Given the description of an element on the screen output the (x, y) to click on. 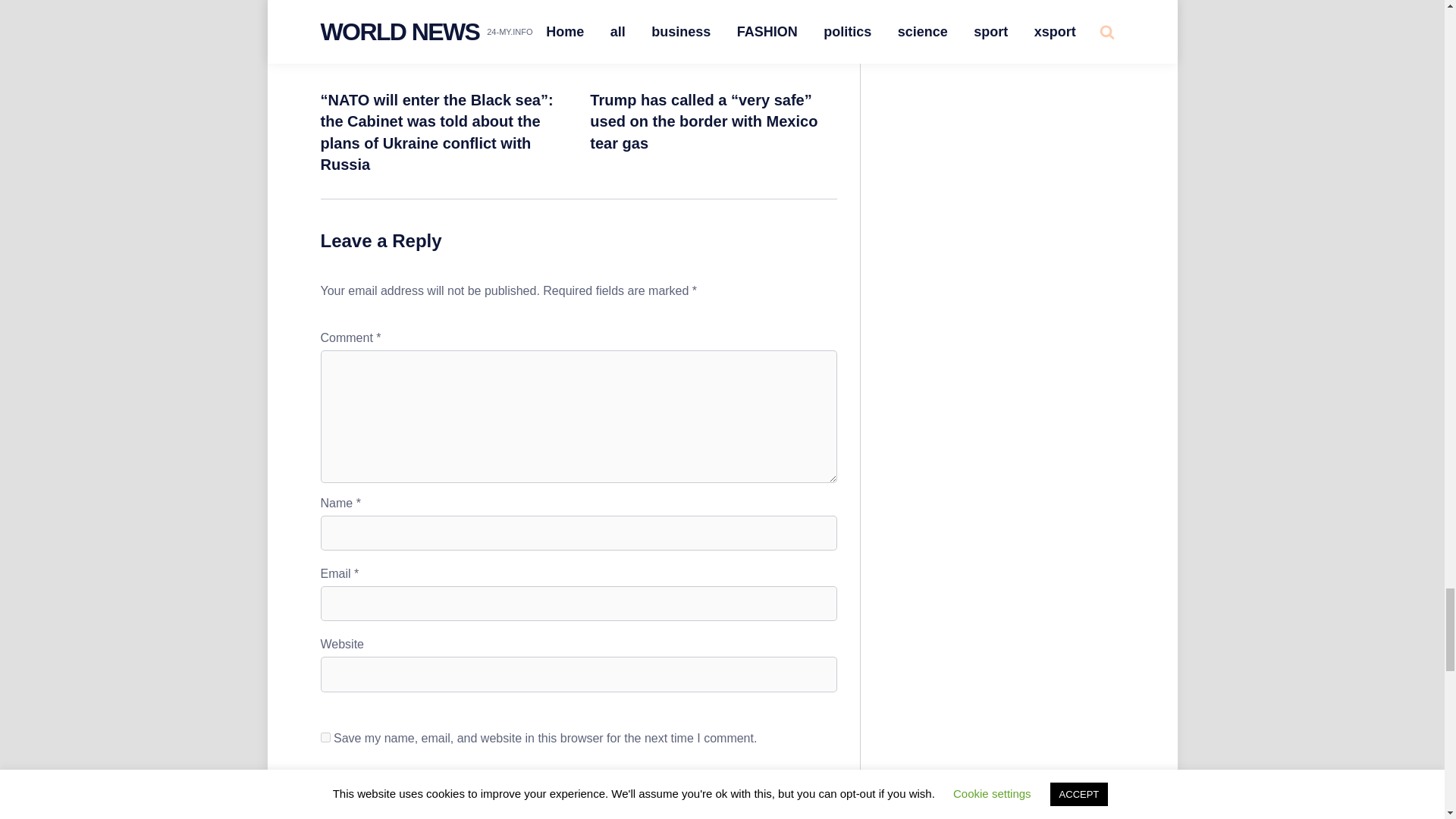
Post Comment (378, 793)
yes (325, 737)
Post Comment (378, 793)
